Given the description of an element on the screen output the (x, y) to click on. 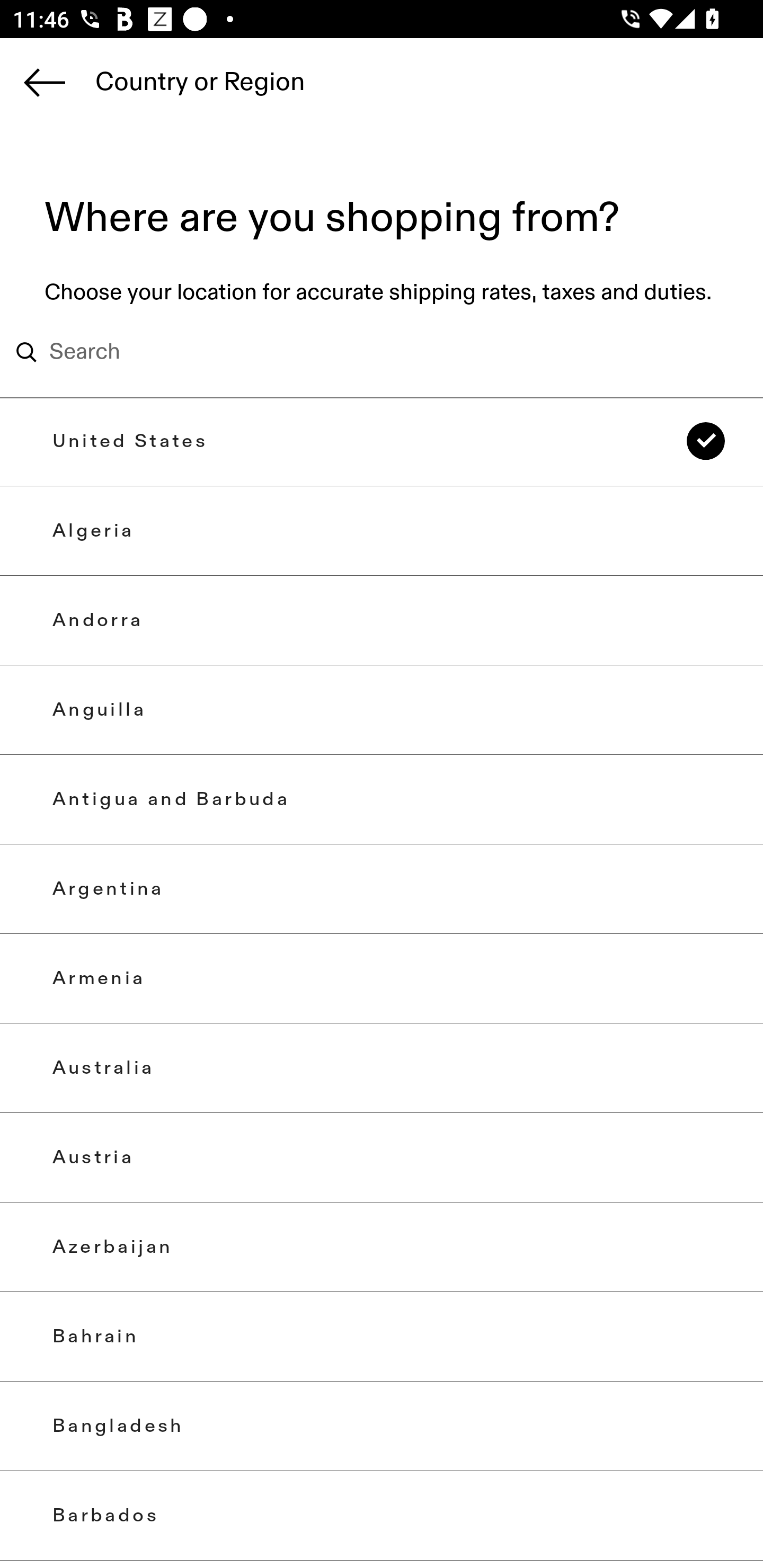
Navigate up (44, 82)
Search (355, 352)
United States (381, 441)
Algeria (381, 530)
Andorra (381, 619)
Anguilla (381, 709)
Antigua and Barbuda (381, 798)
Argentina (381, 888)
Armenia (381, 978)
Australia (381, 1067)
Austria (381, 1157)
Azerbaijan (381, 1247)
Bahrain (381, 1336)
Bangladesh (381, 1425)
Barbados (381, 1515)
